Given the description of an element on the screen output the (x, y) to click on. 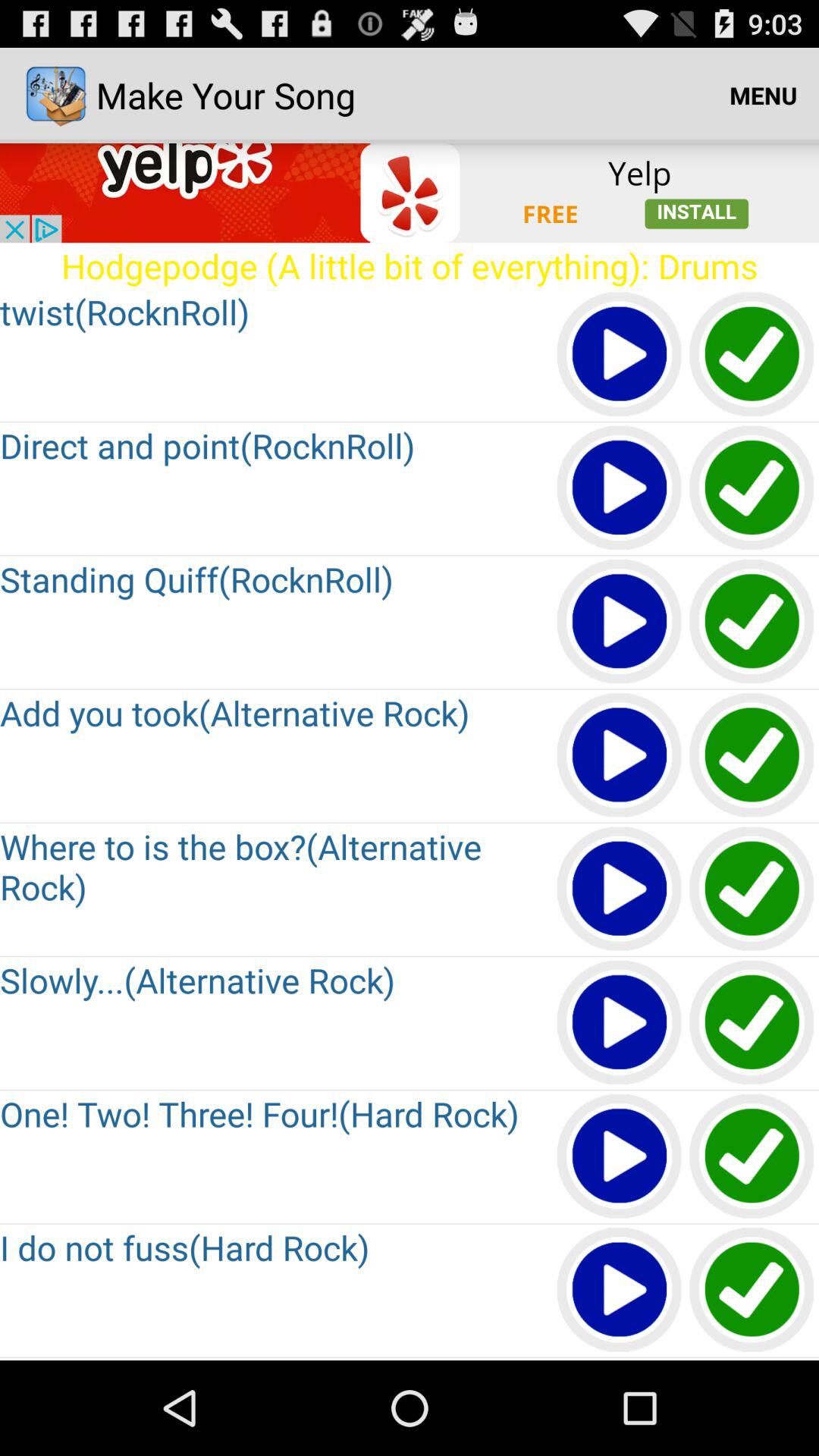
play audio file (619, 755)
